Given the description of an element on the screen output the (x, y) to click on. 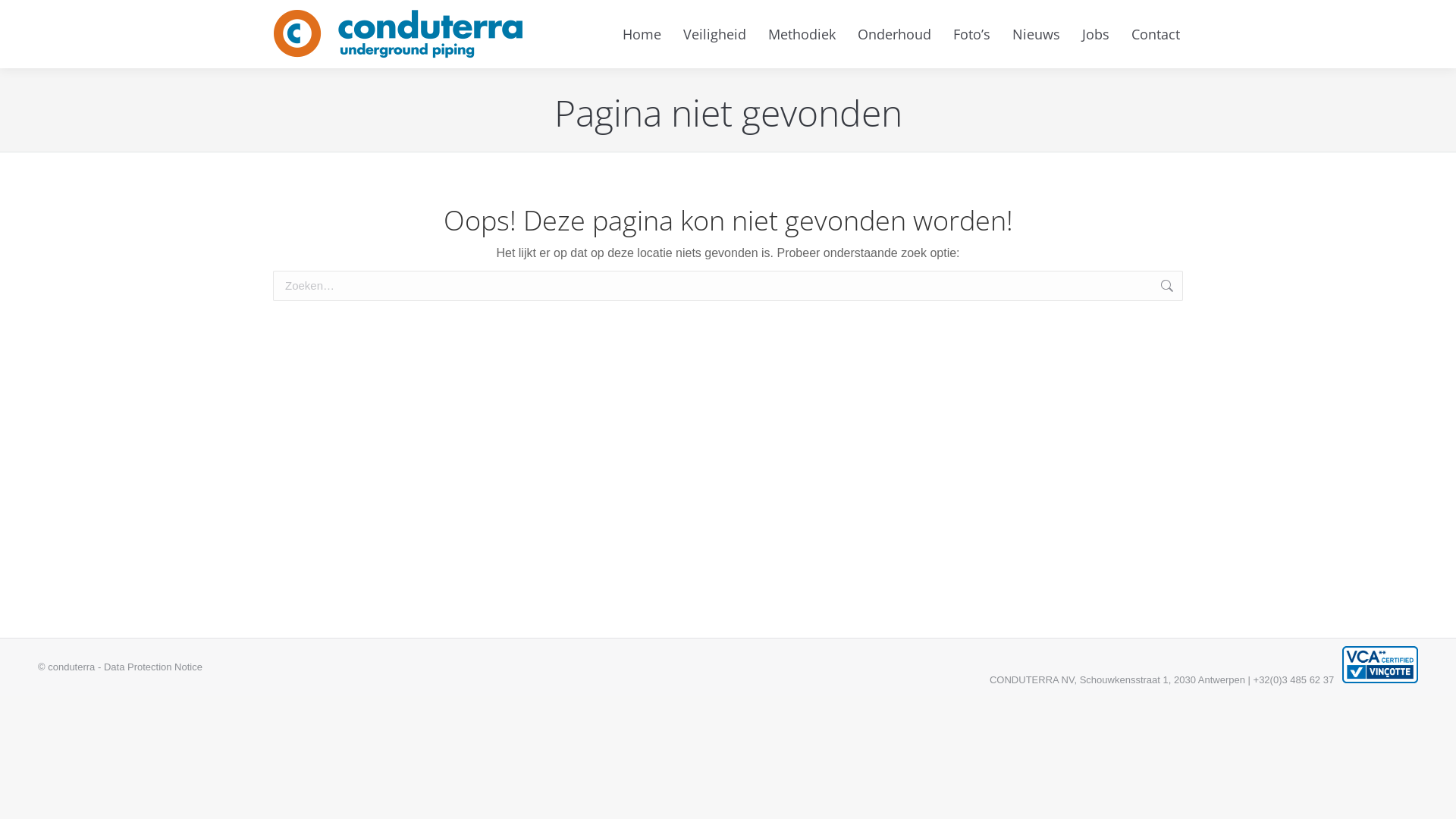
Jobs Element type: text (1095, 33)
Go! Element type: text (1206, 287)
Onderhoud Element type: text (894, 33)
Nieuws Element type: text (1036, 33)
Methodiek Element type: text (801, 33)
Veiligheid Element type: text (714, 33)
Data Protection Notice Element type: text (152, 666)
Contact Element type: text (1155, 33)
Home Element type: text (641, 33)
